Given the description of an element on the screen output the (x, y) to click on. 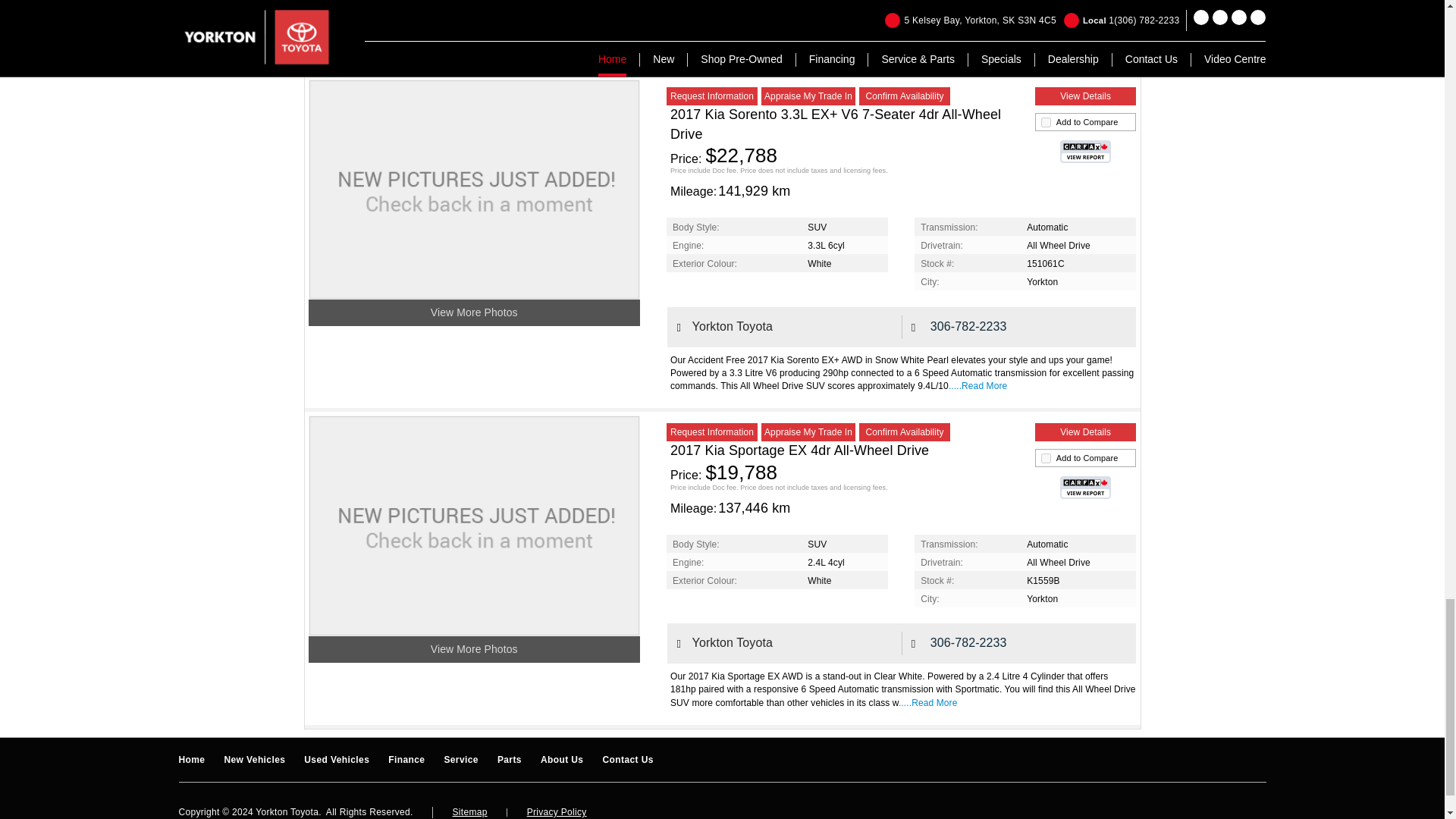
unchecked (1046, 122)
unchecked (1046, 458)
